Given the description of an element on the screen output the (x, y) to click on. 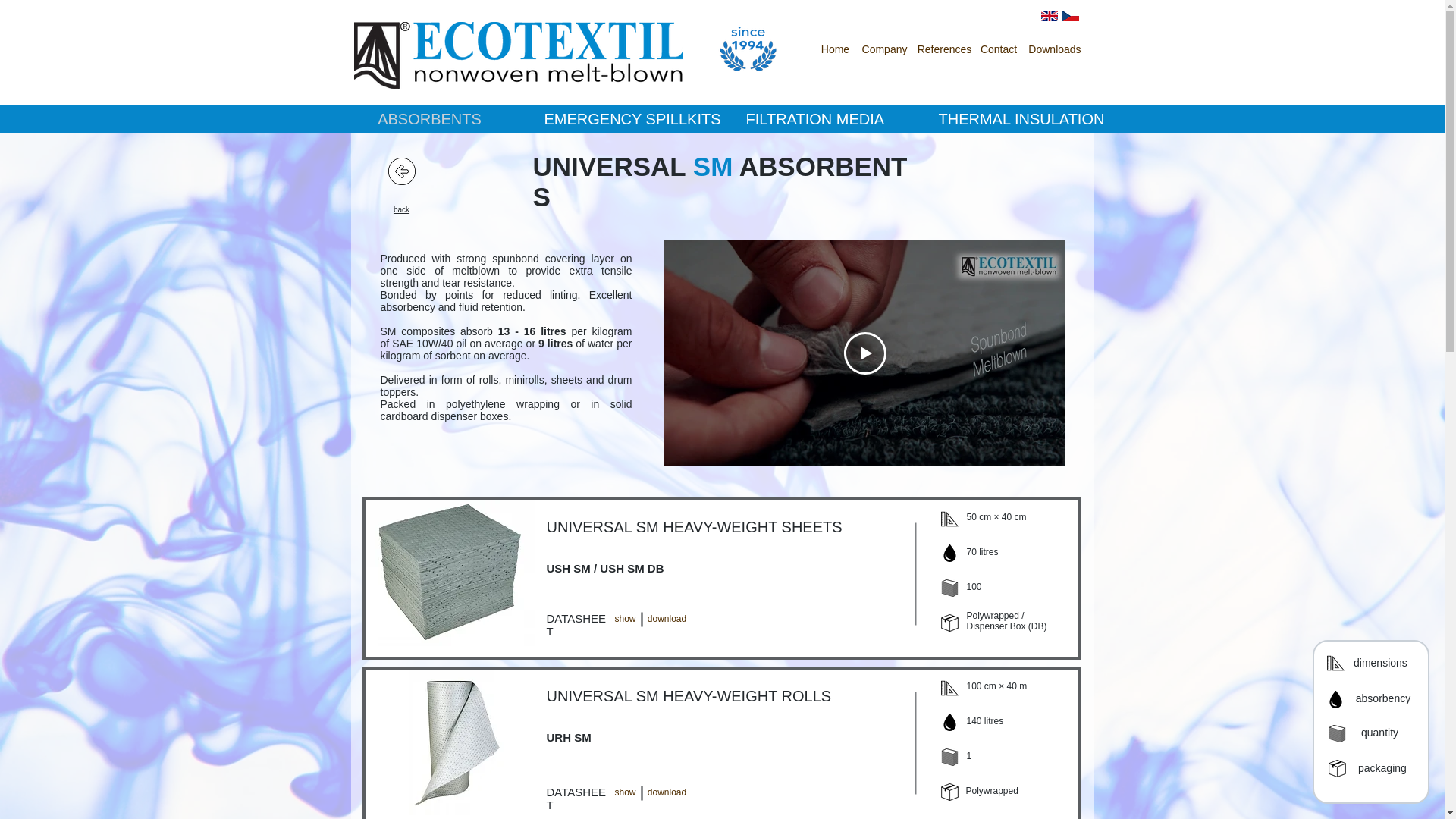
stacked-print-products.png (949, 756)
box-closed.png (949, 791)
Downloads (1054, 50)
download (667, 619)
box-closed.png (949, 622)
EMERGENCY SPILLKITS (632, 118)
measuring-and-drawing-tools.png (949, 518)
References (943, 50)
ABSORBENTS (429, 118)
FILTRATION MEDIA (815, 118)
Home (833, 50)
measuring-and-drawing-tools.png (949, 687)
stacked-print-products.png (949, 588)
THERMAL INSULATION (1022, 118)
drop-silhouette.png (949, 552)
